Given the description of an element on the screen output the (x, y) to click on. 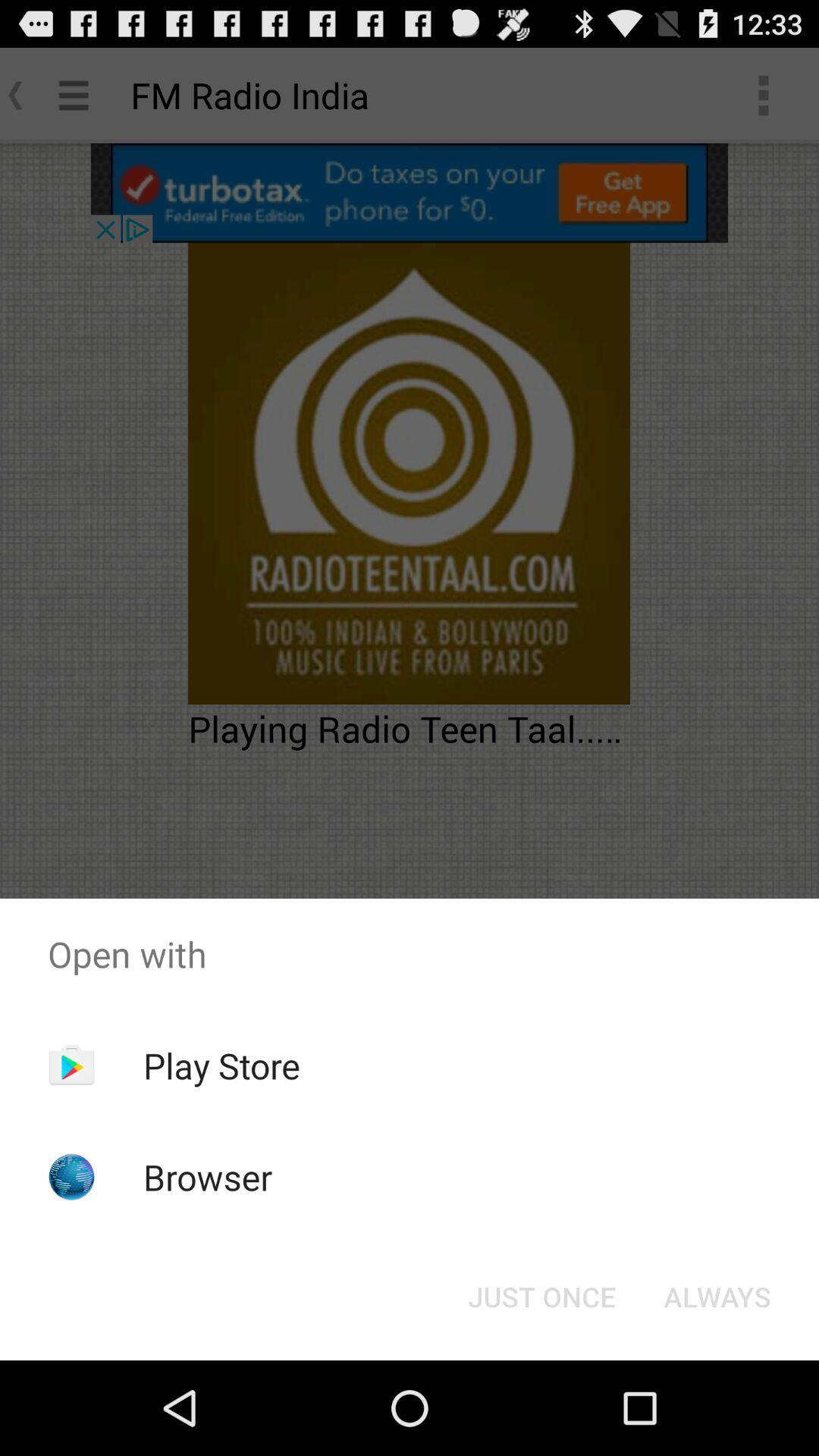
tap the item above browser app (221, 1065)
